Given the description of an element on the screen output the (x, y) to click on. 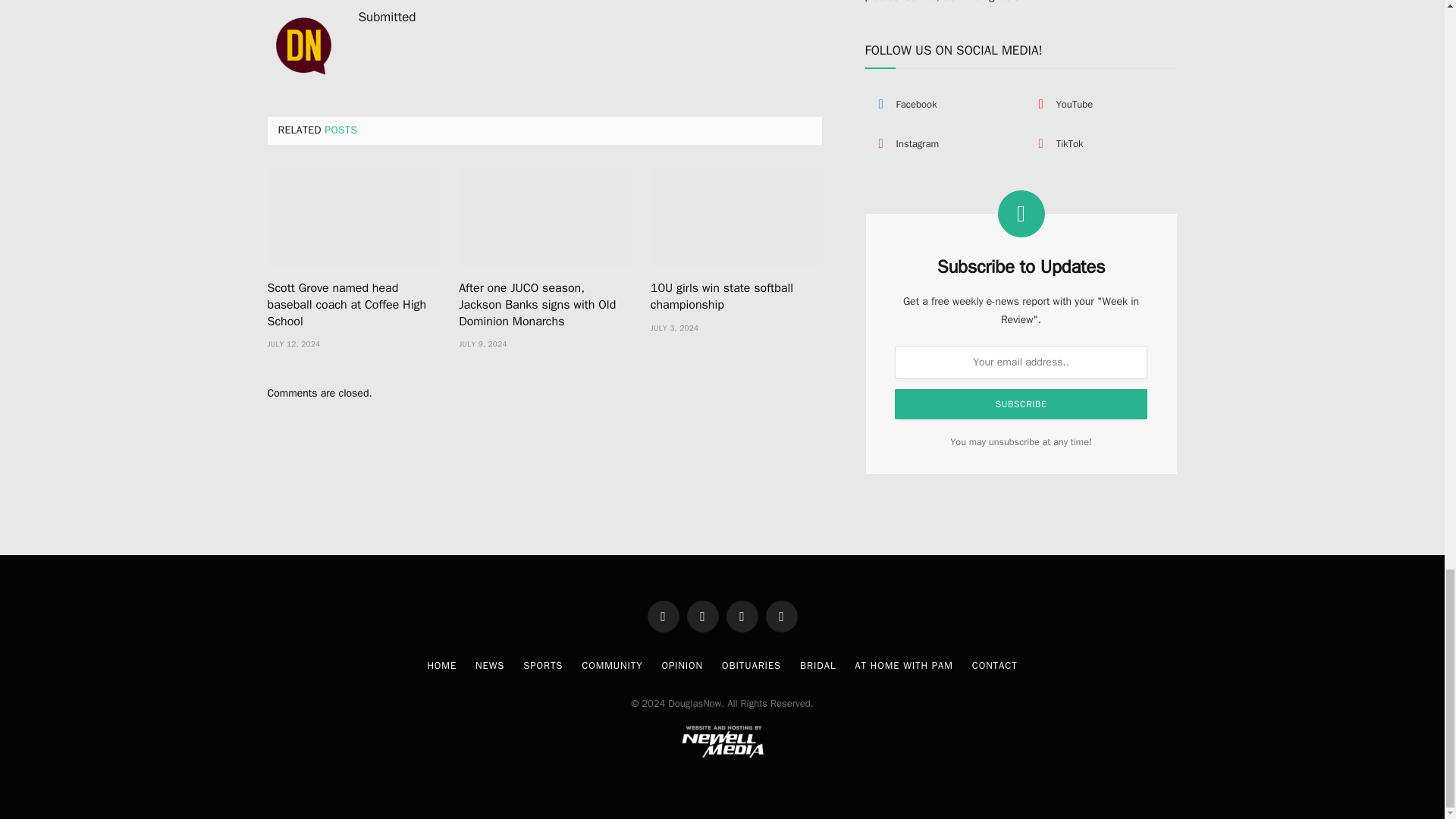
Subscribe (1021, 404)
